Given the description of an element on the screen output the (x, y) to click on. 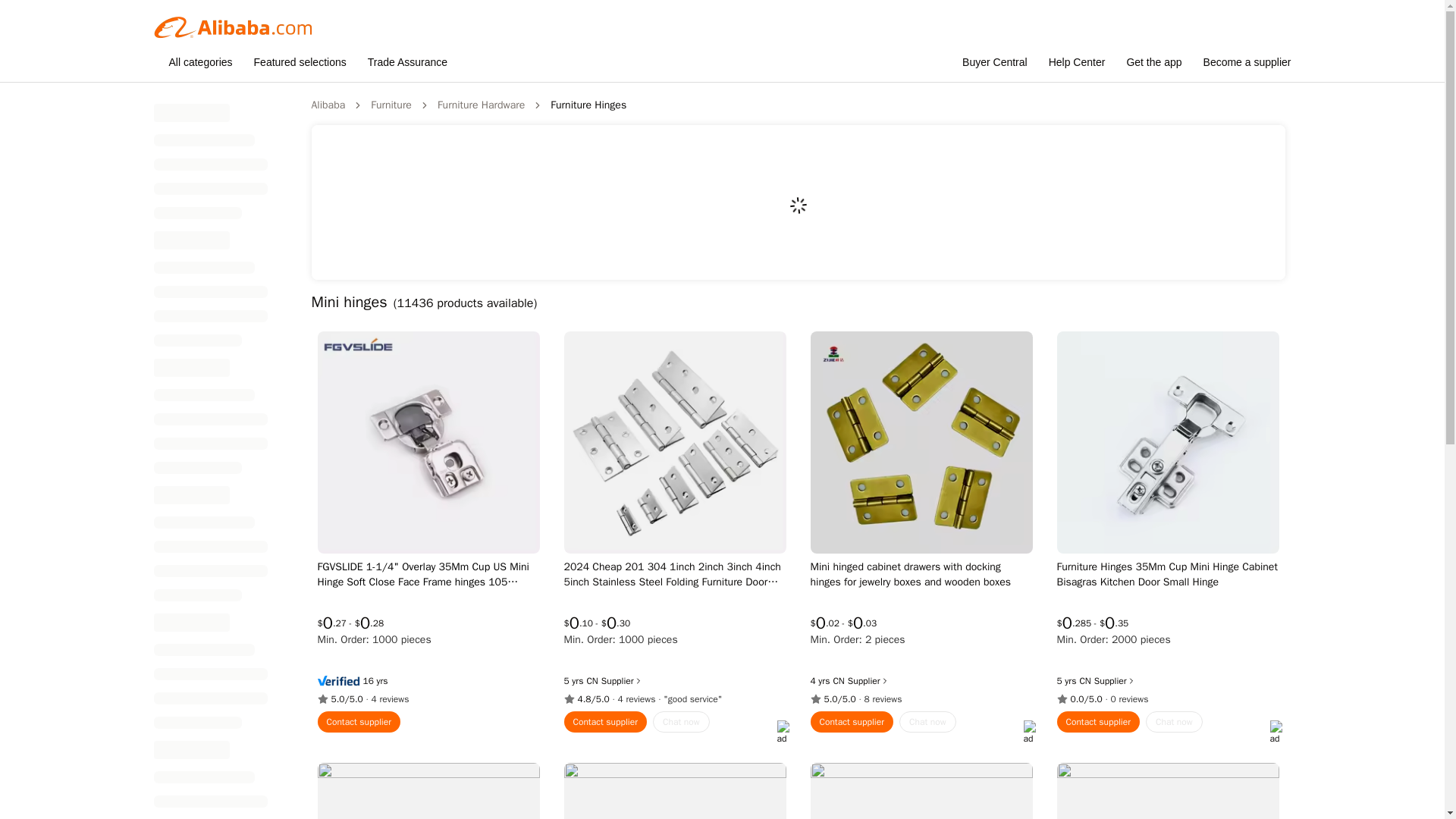
Previous slide (328, 202)
Furniture (391, 105)
Alibaba (328, 105)
Ningbo Warmstar Technology Co., Ltd. (591, 680)
Supplier (426, 680)
Furniture Hardware (481, 105)
Chat now (434, 721)
Contact supplier (358, 721)
